Given the description of an element on the screen output the (x, y) to click on. 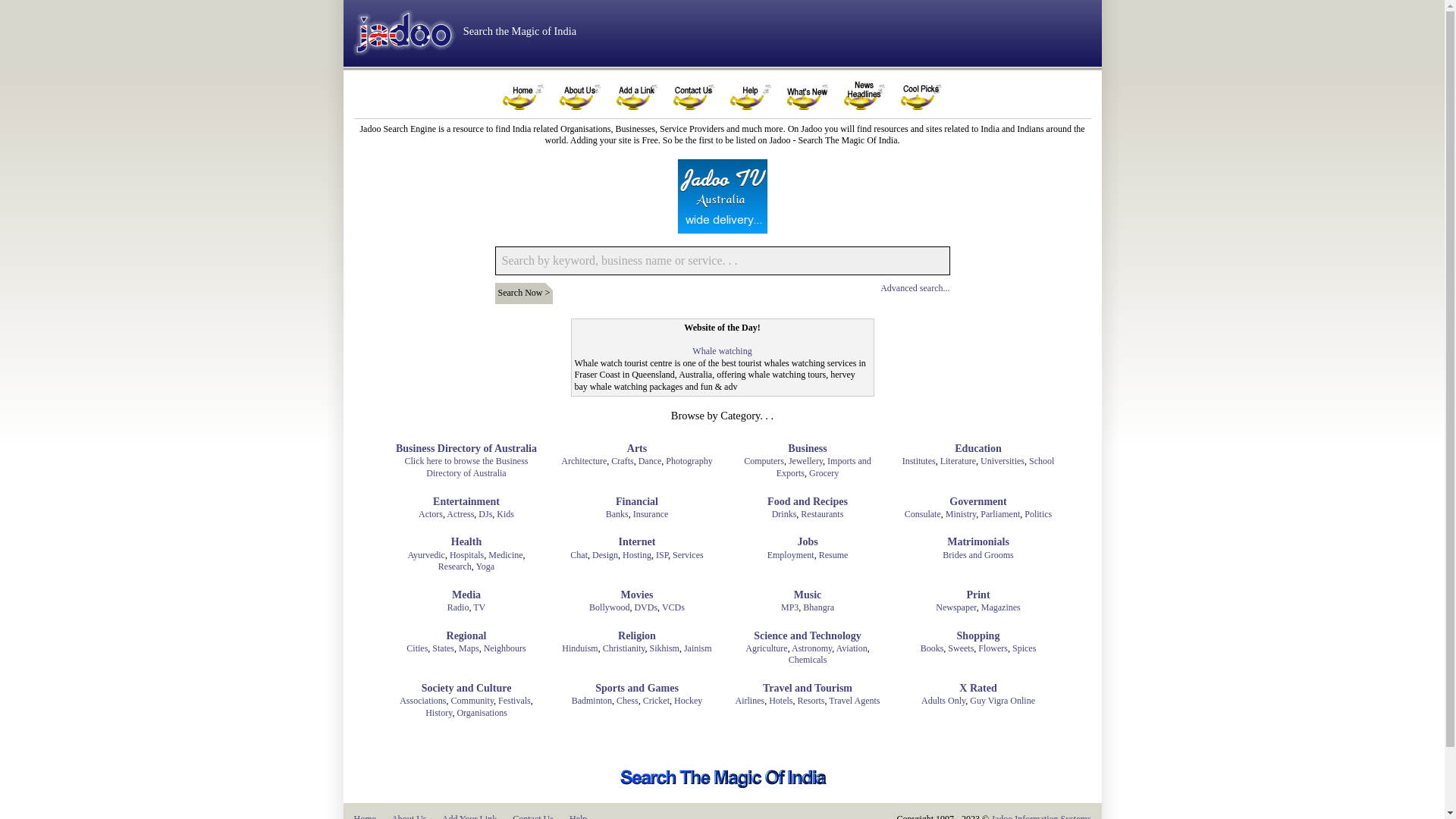
Resume Element type: text (833, 554)
Yoga Element type: text (484, 566)
Bhangra Element type: text (818, 607)
Employment Element type: text (790, 554)
Sweets Element type: text (960, 648)
Science and Technology Element type: text (807, 635)
Grocery Element type: text (823, 472)
Universities Element type: text (1002, 460)
Hosting Element type: text (636, 554)
Ministry Element type: text (960, 513)
Imports and Exports Element type: text (823, 466)
Kids Element type: text (505, 513)
Hockey Element type: text (688, 700)
Neighbours Element type: text (504, 648)
Chemicals Element type: text (807, 659)
Movies Element type: text (637, 594)
Adults Only Element type: text (943, 700)
Magazines Element type: text (1000, 607)
Jainism Element type: text (698, 648)
Restaurants Element type: text (821, 513)
Search by keyword, business name or service. . . Element type: text (721, 260)
Hinduism Element type: text (579, 648)
Matrimonials Element type: text (978, 541)
Food and Recipes Element type: text (807, 501)
Arts Element type: text (636, 448)
Jewellery Element type: text (805, 460)
Cities Element type: text (416, 648)
Chat Element type: text (578, 554)
Media Element type: text (465, 594)
Organisations Element type: text (481, 712)
Resorts Element type: text (810, 700)
Travel Agents Element type: text (853, 700)
Photography Element type: text (688, 460)
Sikhism Element type: text (664, 648)
Internet Element type: text (636, 541)
Education Element type: text (977, 448)
Cricket Element type: text (656, 700)
Festivals Element type: text (514, 700)
DJs Element type: text (485, 513)
X Rated Element type: text (977, 688)
Search Now > Element type: text (523, 293)
Community Element type: text (472, 700)
Radio Element type: text (458, 607)
Computers Element type: text (763, 460)
Consulate Element type: text (922, 513)
Newspaper Element type: text (955, 607)
Banks Element type: text (616, 513)
Jobs Element type: text (807, 541)
Business Element type: text (806, 448)
MP3 Element type: text (789, 607)
Religion Element type: text (636, 635)
Architecture Element type: text (583, 460)
States Element type: text (443, 648)
VCDs Element type: text (673, 607)
Click here to browse the Business Directory of Australia Element type: text (466, 466)
Print Element type: text (977, 594)
Flowers Element type: text (992, 648)
Whale watching Element type: text (721, 350)
Crafts Element type: text (622, 460)
Drinks Element type: text (784, 513)
Dance Element type: text (650, 460)
Music Element type: text (807, 594)
Parliament Element type: text (999, 513)
Hospitals Element type: text (466, 554)
Bollywood Element type: text (609, 607)
School Element type: text (1041, 460)
Associations Element type: text (422, 700)
Government Element type: text (977, 501)
Advanced search... Element type: text (914, 287)
Institutes Element type: text (918, 460)
Sports and Games Element type: text (636, 688)
Medicine Element type: text (505, 554)
Maps Element type: text (468, 648)
Business Directory of Australia Element type: text (465, 448)
Entertainment Element type: text (466, 501)
Services Element type: text (687, 554)
Airlines Element type: text (749, 700)
Hotels Element type: text (780, 700)
Regional Element type: text (466, 635)
Ayurvedic Element type: text (426, 554)
Guy Vigra Online Element type: text (1002, 700)
Books Element type: text (932, 648)
Insurance Element type: text (650, 513)
Health Element type: text (466, 541)
Agriculture Element type: text (766, 648)
Literature Element type: text (957, 460)
DVDs Element type: text (645, 607)
Research Element type: text (454, 566)
Financial Element type: text (636, 501)
History Element type: text (438, 712)
Aviation Element type: text (851, 648)
Politics Element type: text (1037, 513)
Society and Culture Element type: text (466, 688)
Chess Element type: text (627, 700)
Design Element type: text (605, 554)
Travel and Tourism Element type: text (807, 688)
Astronomy Element type: text (811, 648)
Brides and Grooms Element type: text (977, 554)
Christianity Element type: text (623, 648)
ISP Element type: text (661, 554)
Shopping Element type: text (978, 635)
Badminton Element type: text (591, 700)
Actors Element type: text (430, 513)
TV Element type: text (479, 607)
Actress Element type: text (459, 513)
Spices Element type: text (1023, 648)
